Given the description of an element on the screen output the (x, y) to click on. 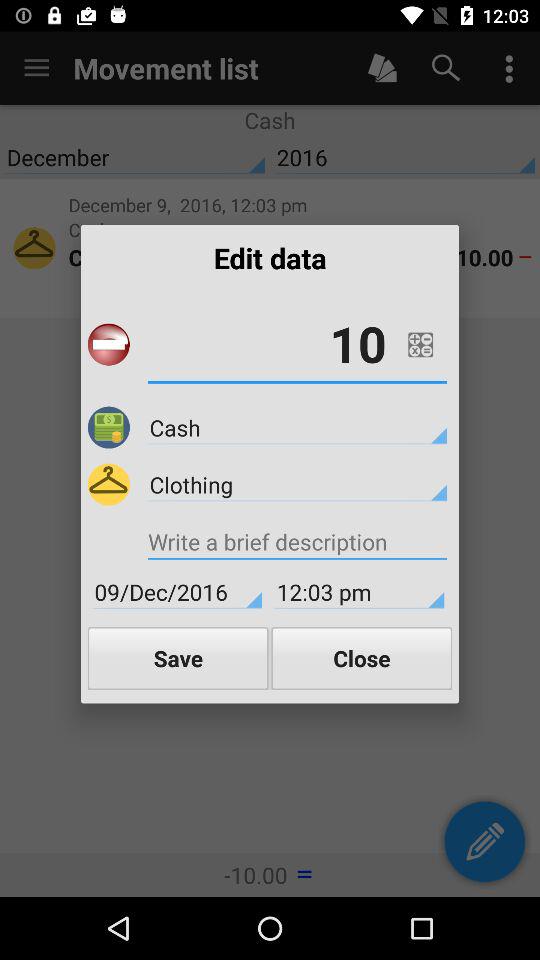
press clothing (297, 484)
